Given the description of an element on the screen output the (x, y) to click on. 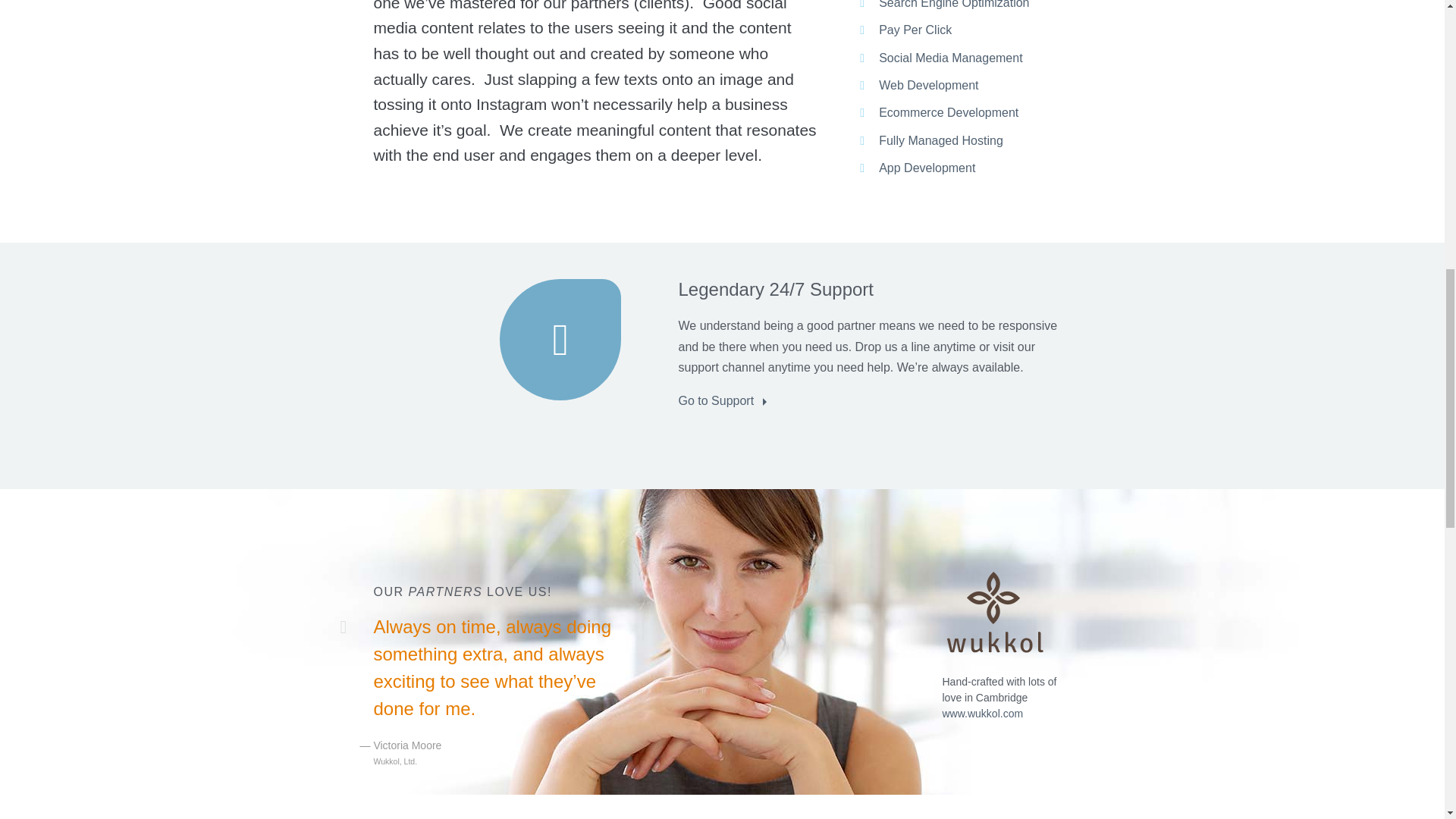
Web Development (928, 85)
www.wukkol.com (982, 713)
Social Media Management (950, 58)
Fully Managed Hosting (941, 141)
Go to Support (726, 400)
Search Engine Optimization (954, 4)
App Development (927, 168)
Ecommerce Development (948, 112)
Pay Per Click (915, 29)
